Given the description of an element on the screen output the (x, y) to click on. 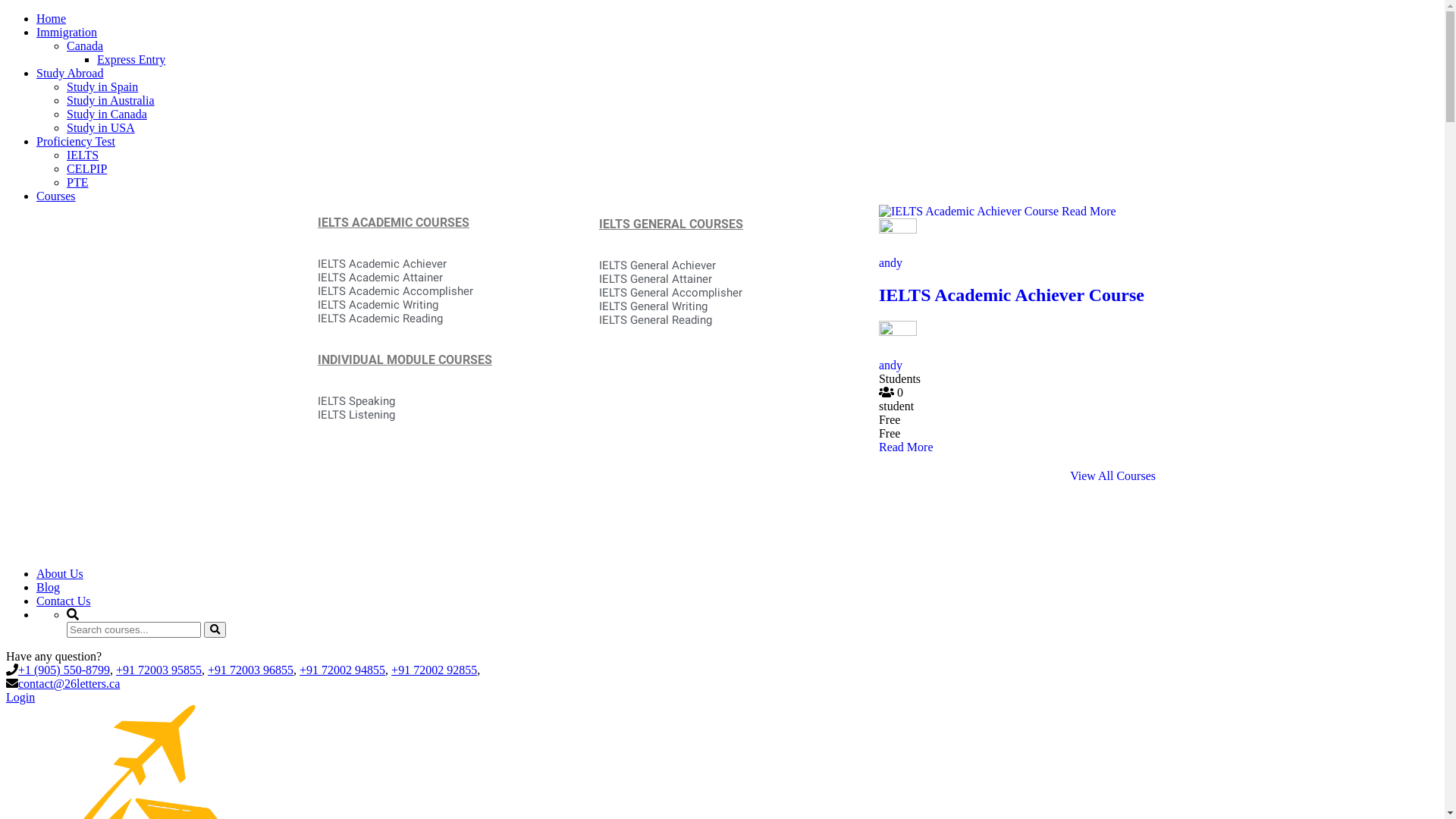
CELPIP Element type: text (86, 168)
IELTS General Reading Element type: text (737, 319)
IELTS General Accomplisher Element type: text (737, 292)
IELTS Element type: text (82, 154)
Study in Australia Element type: text (110, 100)
IELTS Listening Element type: text (457, 414)
contact@26letters.ca Element type: text (68, 683)
IELTS Academic Achiever Course Element type: text (1011, 294)
Canada Element type: text (84, 45)
Blog Element type: text (47, 586)
+91 72002 94855 Element type: text (342, 669)
+91 72003 95855 Element type: text (158, 669)
andy Element type: text (890, 262)
IELTS Academic Attainer Element type: text (457, 277)
+91 72002 92855 Element type: text (433, 669)
+1 (905) 550-8799 Element type: text (63, 669)
Read More Element type: text (905, 446)
IELTS Academic Accomplisher Element type: text (457, 291)
IELTS General Writing Element type: text (737, 306)
Proficiency Test Element type: text (75, 140)
Study in USA Element type: text (100, 127)
Study in Canada Element type: text (106, 113)
IELTS General Achiever Element type: text (737, 265)
Courses Element type: text (55, 195)
Express Entry Element type: text (131, 59)
IELTS Achiever course Element type: hover (968, 211)
View All Courses Element type: text (1112, 476)
IELTS Academic Writing Element type: text (457, 304)
Immigration Element type: text (66, 31)
Read More Element type: text (1088, 210)
+91 72003 96855 Element type: text (250, 669)
IELTS Academic Reading Element type: text (457, 318)
IELTS Speaking Element type: text (457, 400)
Contact Us Element type: text (63, 600)
Study in Spain Element type: text (102, 86)
Login Element type: text (20, 696)
IELTS General Attainer Element type: text (737, 278)
IELTS Academic Achiever Element type: text (457, 263)
Study Abroad Element type: text (69, 72)
andy Element type: text (890, 364)
About Us Element type: text (59, 573)
PTE Element type: text (76, 181)
Home Element type: text (50, 18)
